Given the description of an element on the screen output the (x, y) to click on. 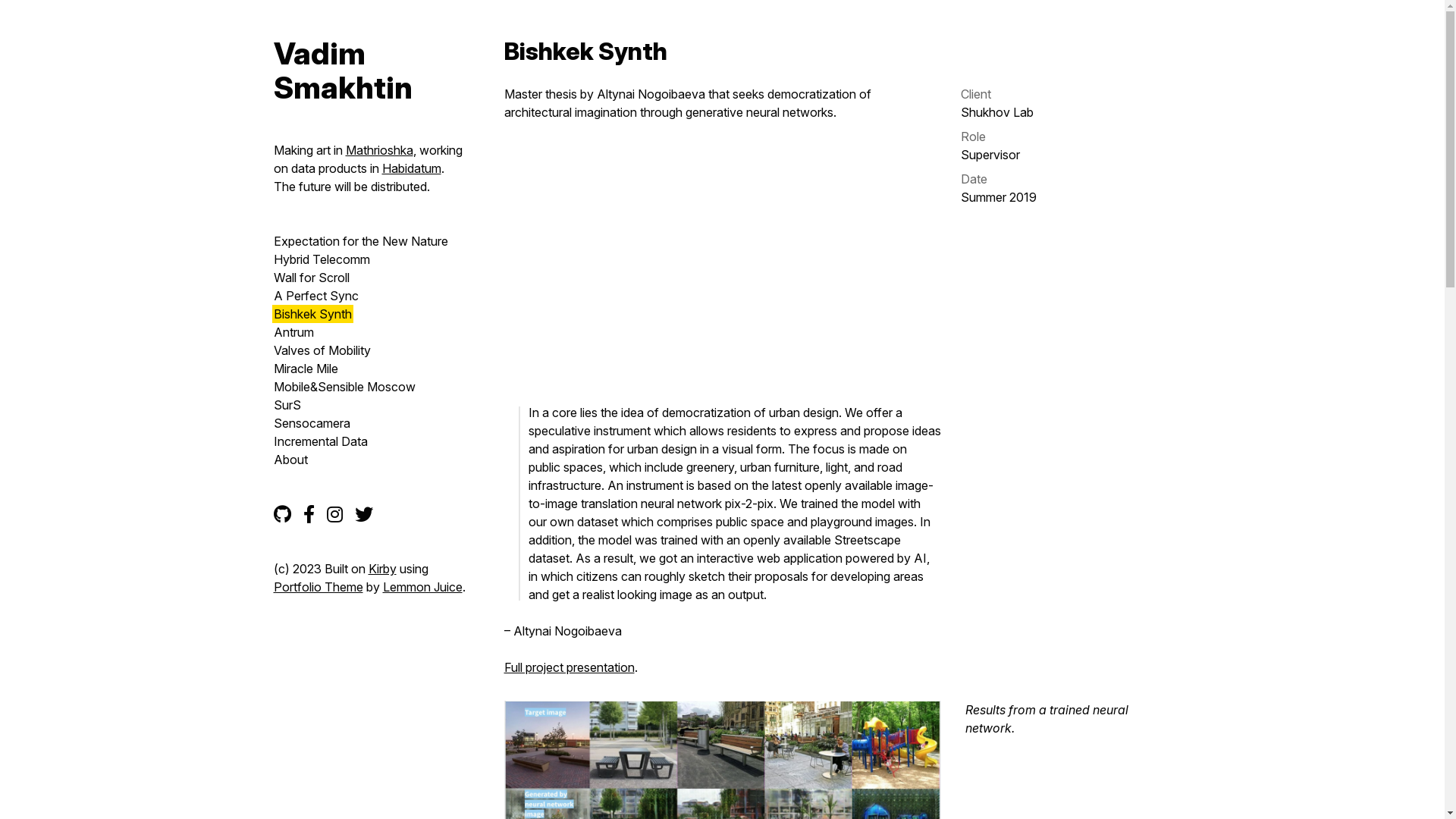
Wall for Scroll Element type: text (310, 277)
Hybrid Telecomm Element type: text (320, 259)
Full project presentation Element type: text (568, 666)
About Element type: text (289, 459)
Incremental Data Element type: text (319, 441)
Sensocamera Element type: text (311, 423)
A Perfect Sync Element type: text (315, 295)
Lemmon Juice Element type: text (421, 586)
Portfolio Theme Element type: text (317, 586)
SurS Element type: text (286, 404)
Mobile&Sensible Moscow Element type: text (343, 386)
Expectation for the New Nature Element type: text (359, 241)
Kirby Element type: text (382, 568)
Valves of Mobility Element type: text (321, 350)
Miracle Mile Element type: text (304, 368)
Bishkek Synth Element type: text (311, 313)
Vadim Smakhtin Element type: text (370, 70)
Habidatum Element type: text (411, 167)
Mathrioshka Element type: text (379, 149)
Antrum Element type: text (292, 332)
